Given the description of an element on the screen output the (x, y) to click on. 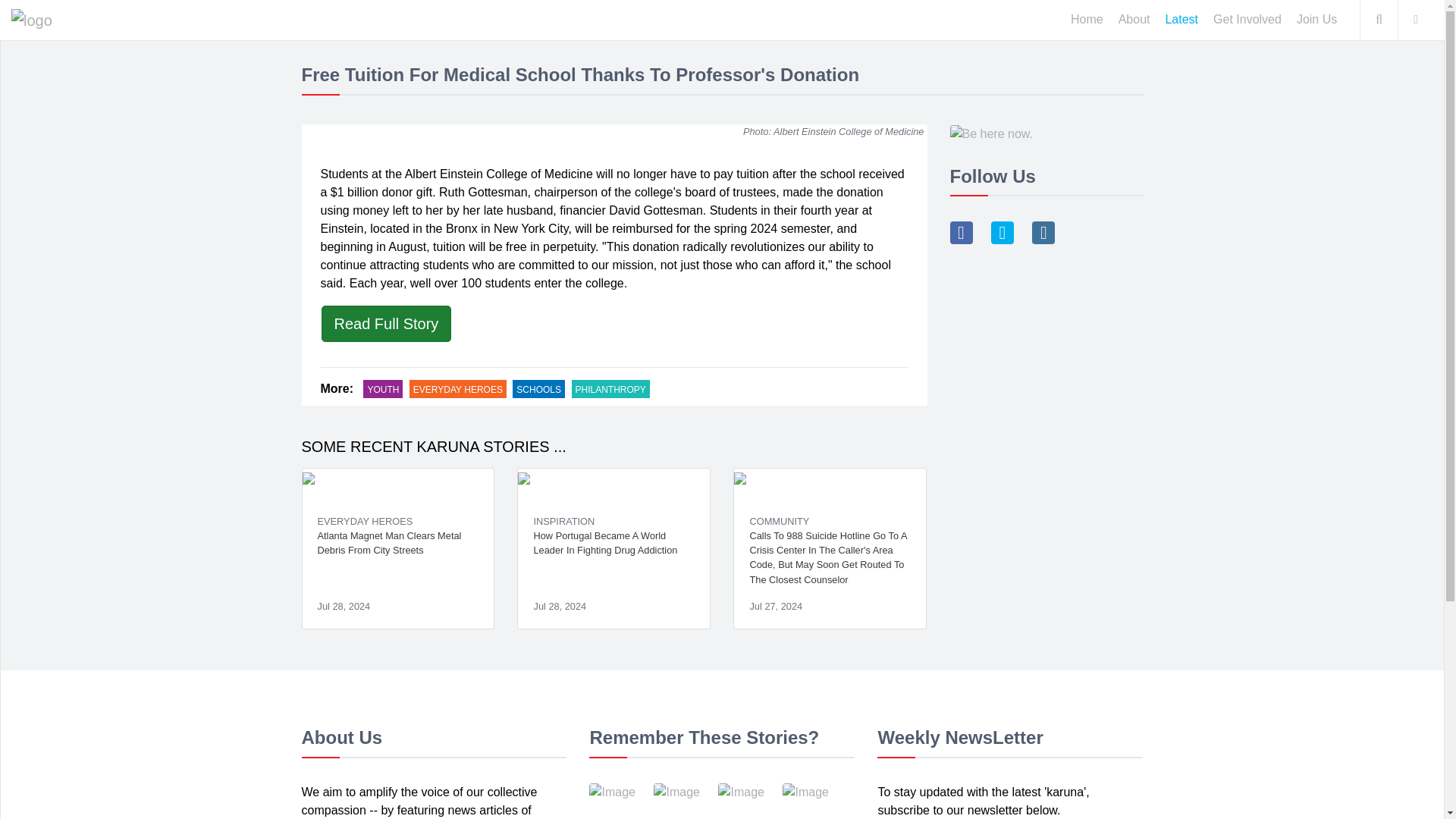
About (1133, 20)
PHILANTHROPY (610, 389)
Latest (1181, 20)
YOUTH (382, 389)
Atlanta Magnet Man Clears Metal Debris From City Streets (398, 549)
INSPIRATION (563, 521)
Read Full Story (386, 323)
EVERYDAY HEROES (457, 389)
EVERYDAY HEROES (364, 521)
Get Involved (1246, 20)
Join Us (1315, 20)
SCHOOLS (538, 389)
Home (1086, 20)
